Given the description of an element on the screen output the (x, y) to click on. 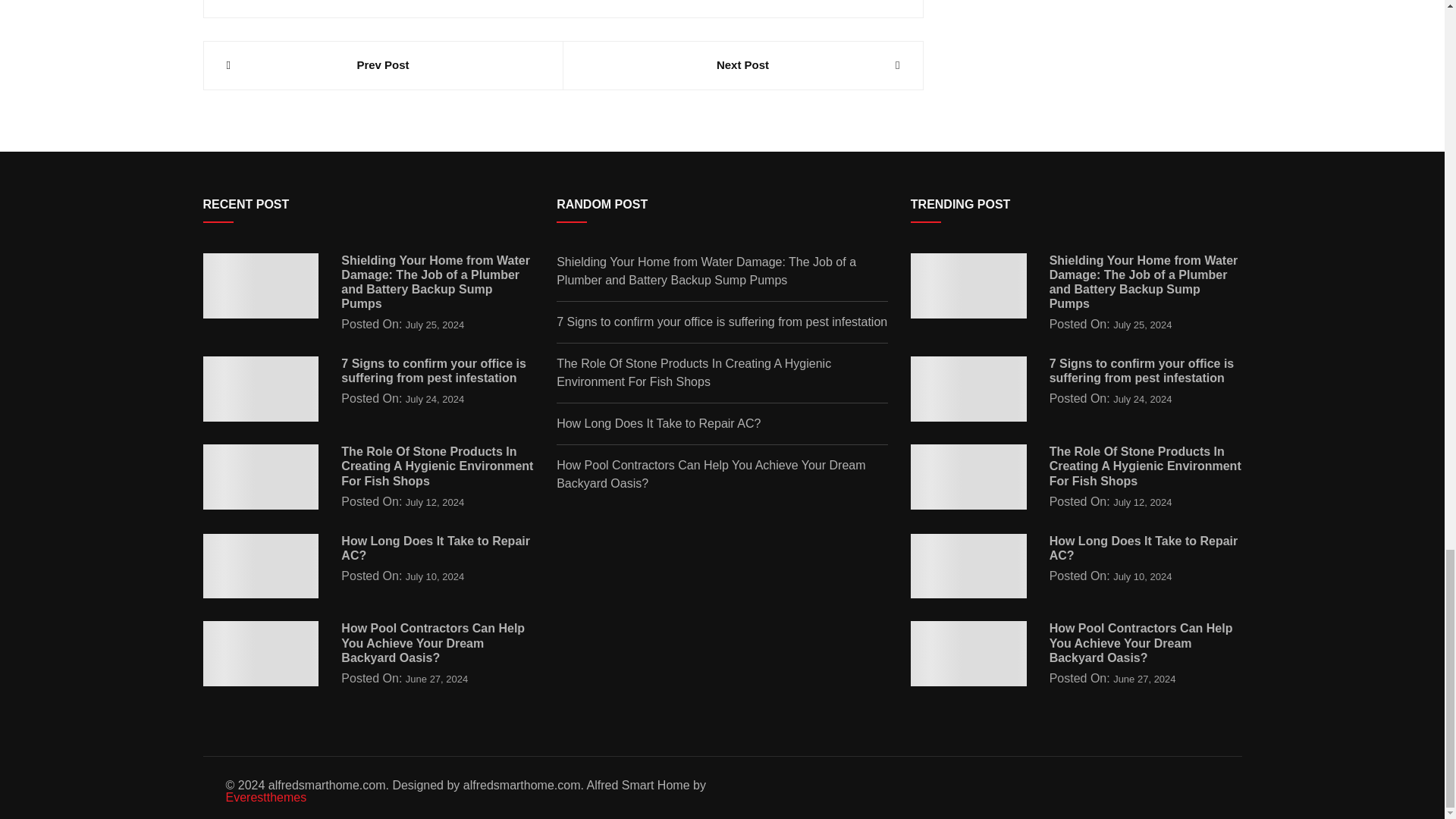
Prev Post (381, 65)
Next Post (742, 65)
